Given the description of an element on the screen output the (x, y) to click on. 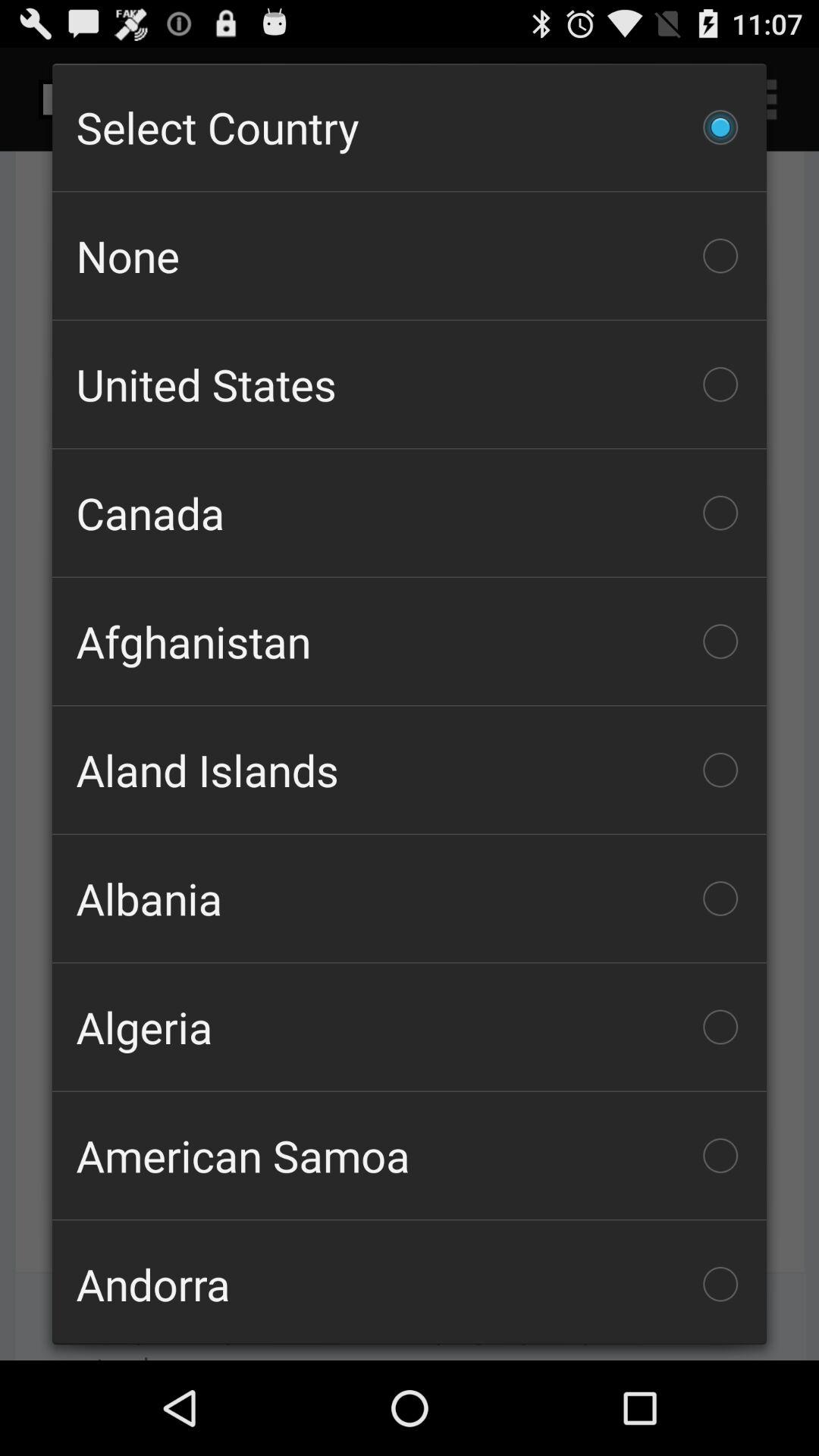
open the algeria item (409, 1026)
